Given the description of an element on the screen output the (x, y) to click on. 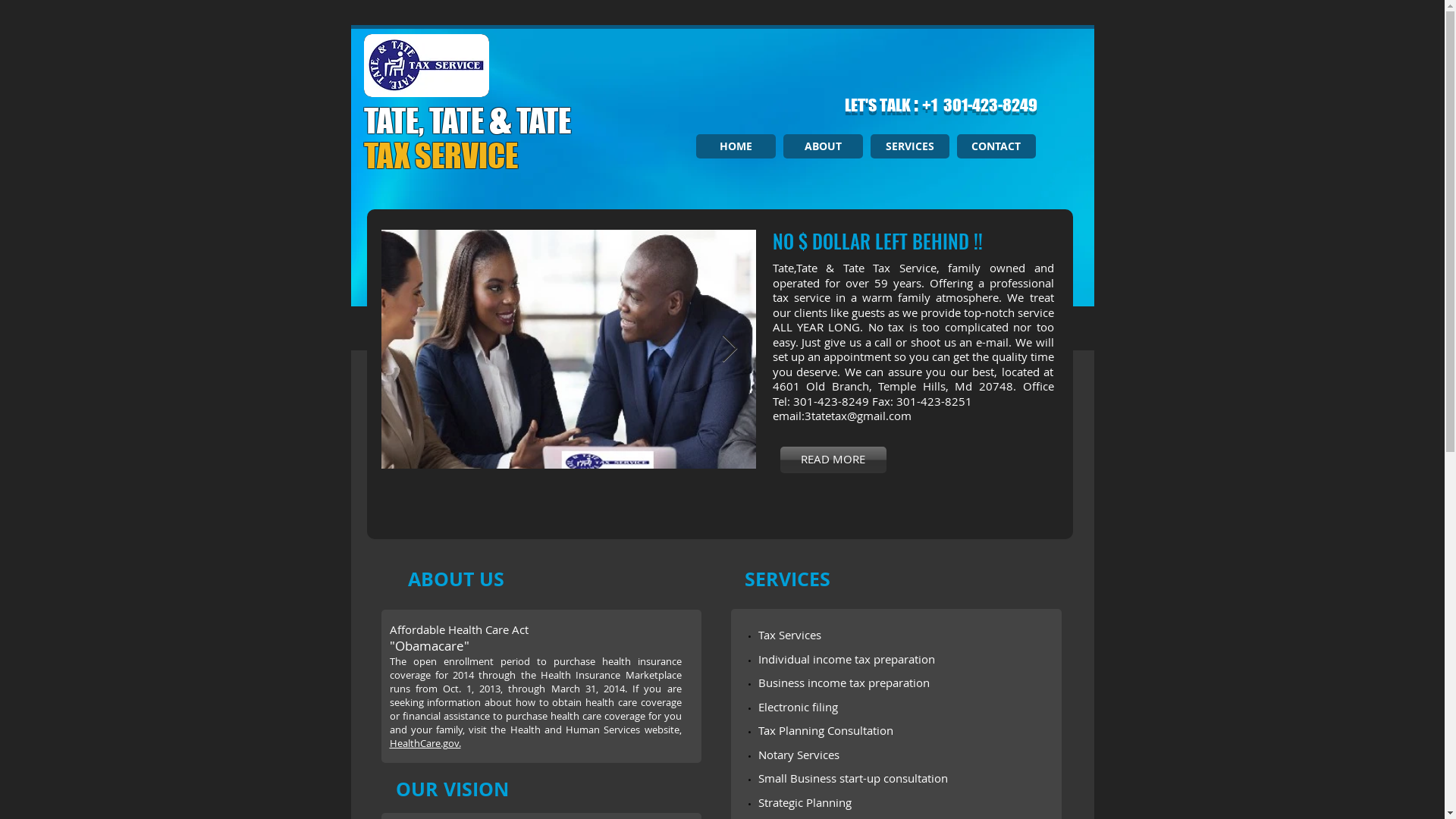
CONTACT Element type: text (996, 146)
3tatetax@gmail.com Element type: text (856, 415)
TATE, TATE Element type: text (426, 120)
HealthCare.gov. Element type: text (425, 742)
SERVICES Element type: text (909, 146)
HOME Element type: text (735, 146)
& Element type: text (499, 117)
TATE Element type: text (541, 120)
TAX SERVICE  Element type: text (443, 155)
READ MORE Element type: text (832, 459)
ABOUT Element type: text (822, 146)
